Given the description of an element on the screen output the (x, y) to click on. 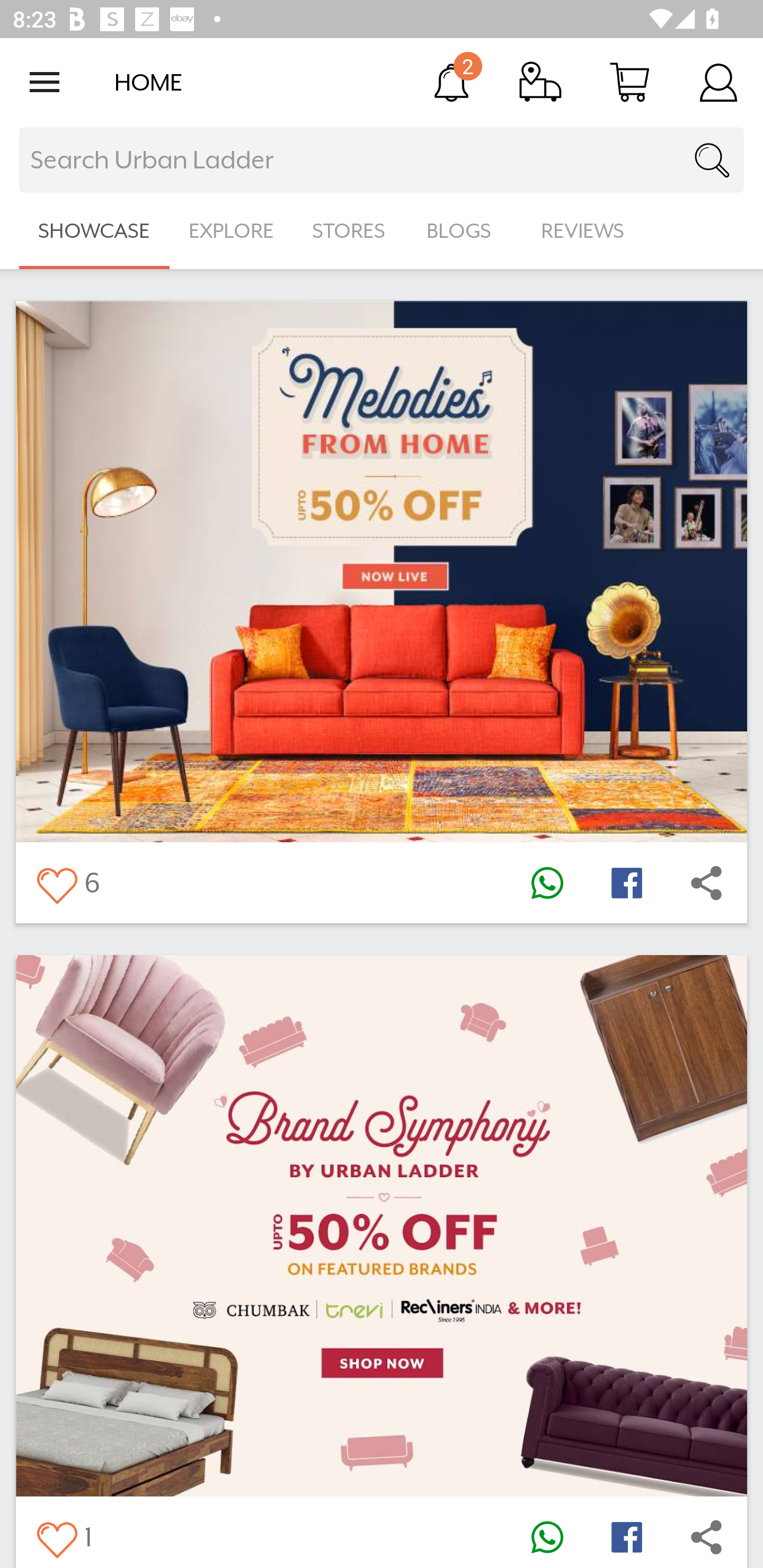
Open navigation drawer (44, 82)
Notification (450, 81)
Track Order (540, 81)
Cart (629, 81)
Account Details (718, 81)
Search Urban Ladder  (381, 159)
SHOWCASE (94, 230)
EXPLORE (230, 230)
STORES (349, 230)
BLOGS (464, 230)
REVIEWS (582, 230)
 (55, 882)
 (547, 882)
 (626, 882)
 (706, 882)
 (55, 1536)
 (547, 1536)
 (626, 1536)
 (706, 1536)
